Given the description of an element on the screen output the (x, y) to click on. 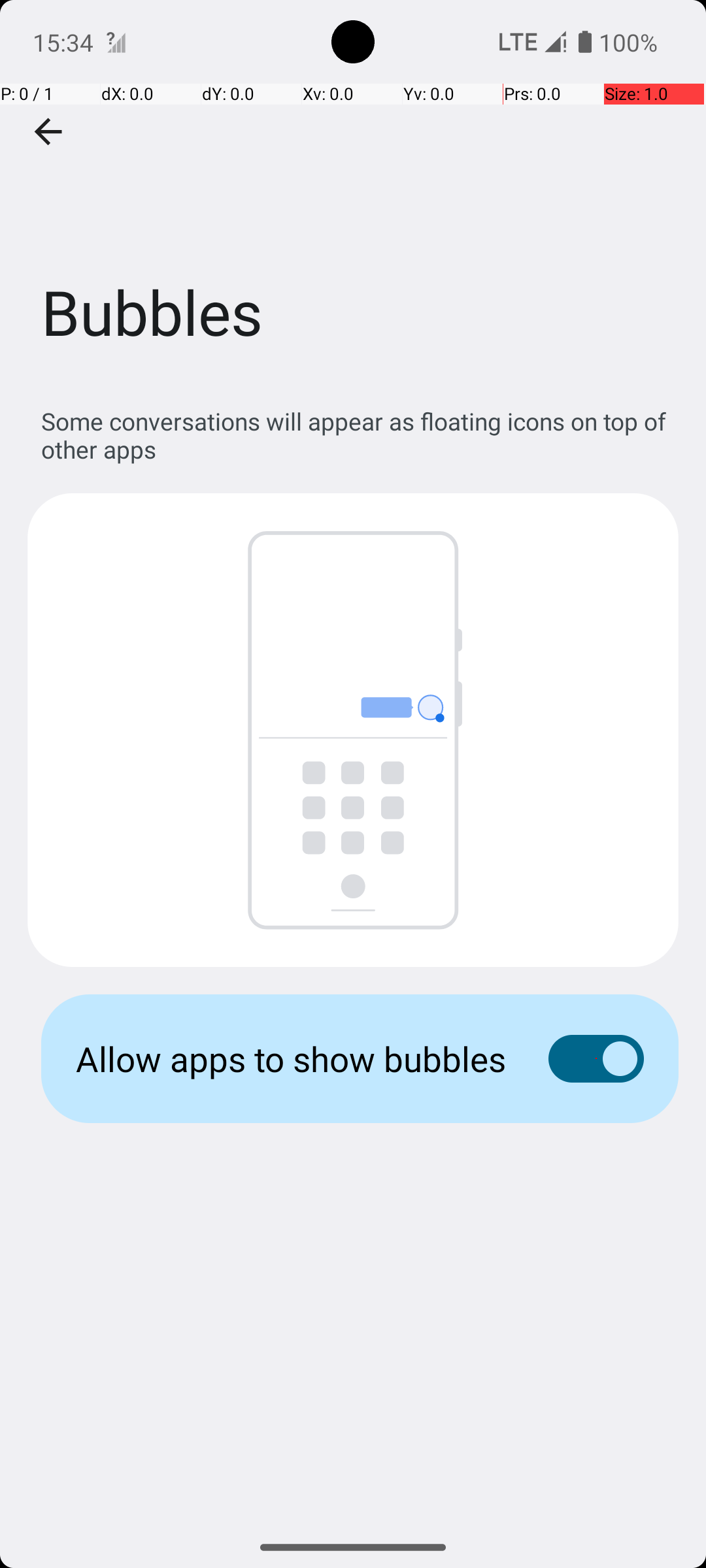
Some conversations will appear as floating icons on top of other apps Element type: android.widget.TextView (359, 434)
Allow apps to show bubbles Element type: android.widget.TextView (291, 1058)
